Given the description of an element on the screen output the (x, y) to click on. 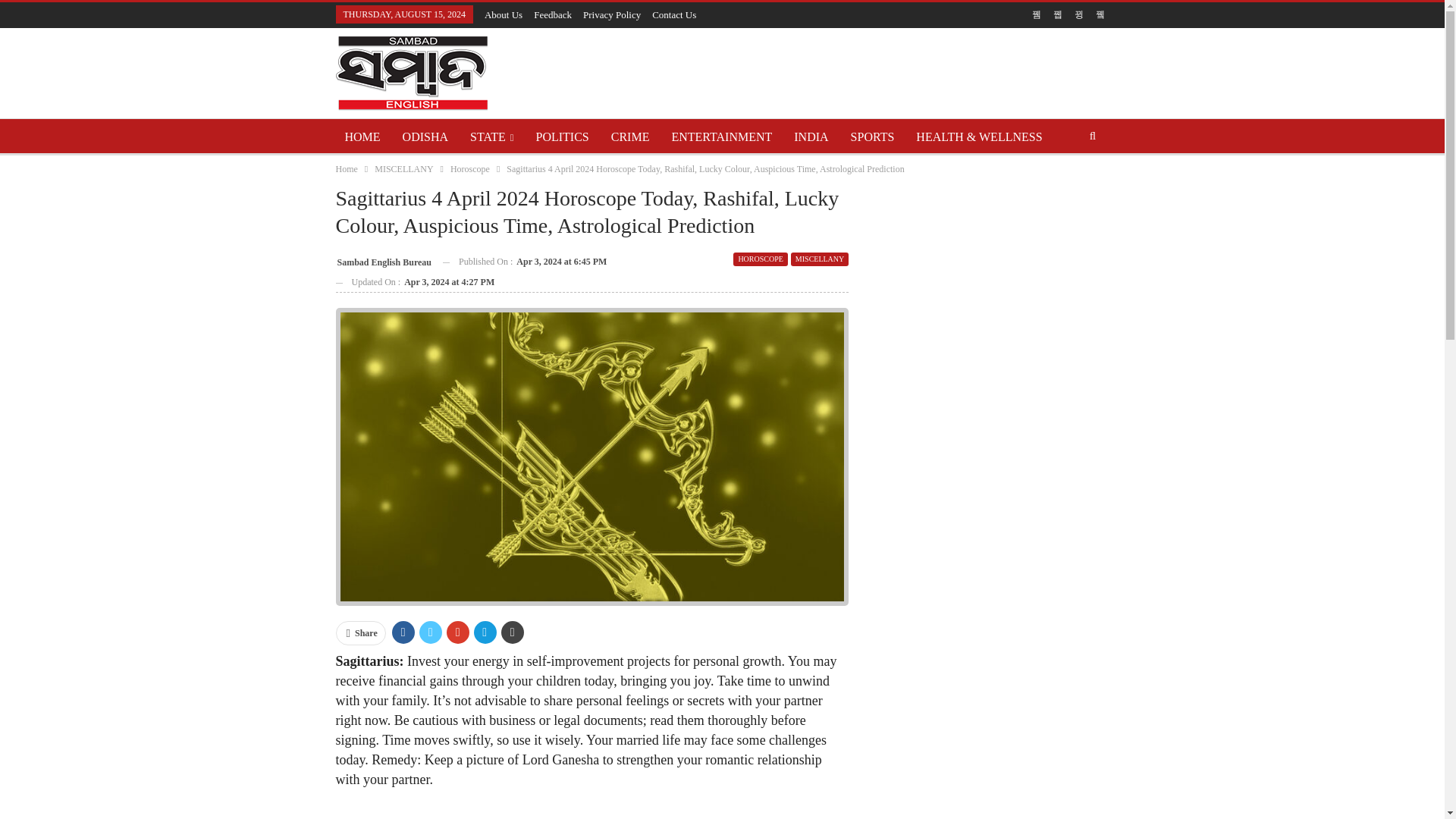
Horoscope (469, 168)
POLITICS (562, 136)
SPORTS (872, 136)
Privacy Policy (611, 14)
Feedback (553, 14)
INDIA (810, 136)
HOME (361, 136)
Home (345, 168)
ODISHA (425, 136)
STATE (491, 136)
